Given the description of an element on the screen output the (x, y) to click on. 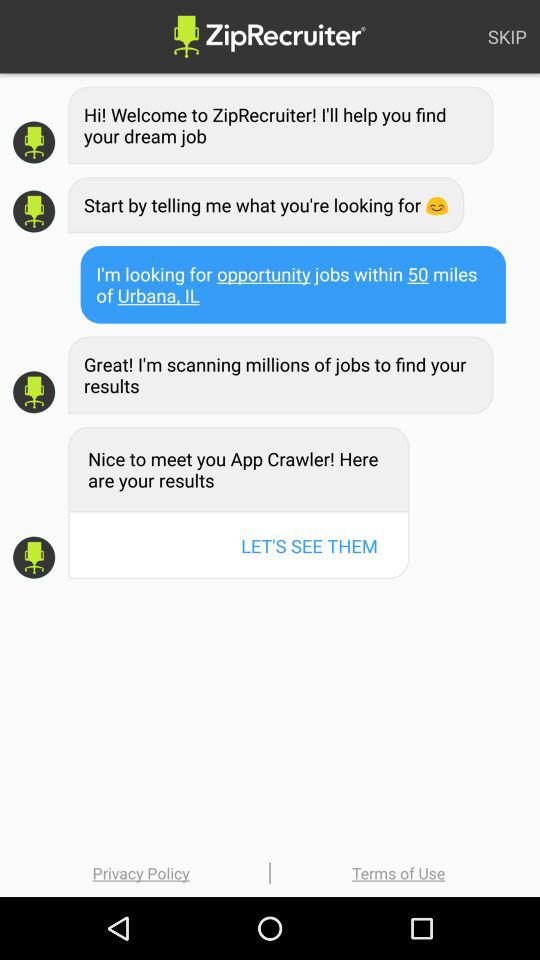
choose terms of use at the bottom right corner (398, 872)
